Given the description of an element on the screen output the (x, y) to click on. 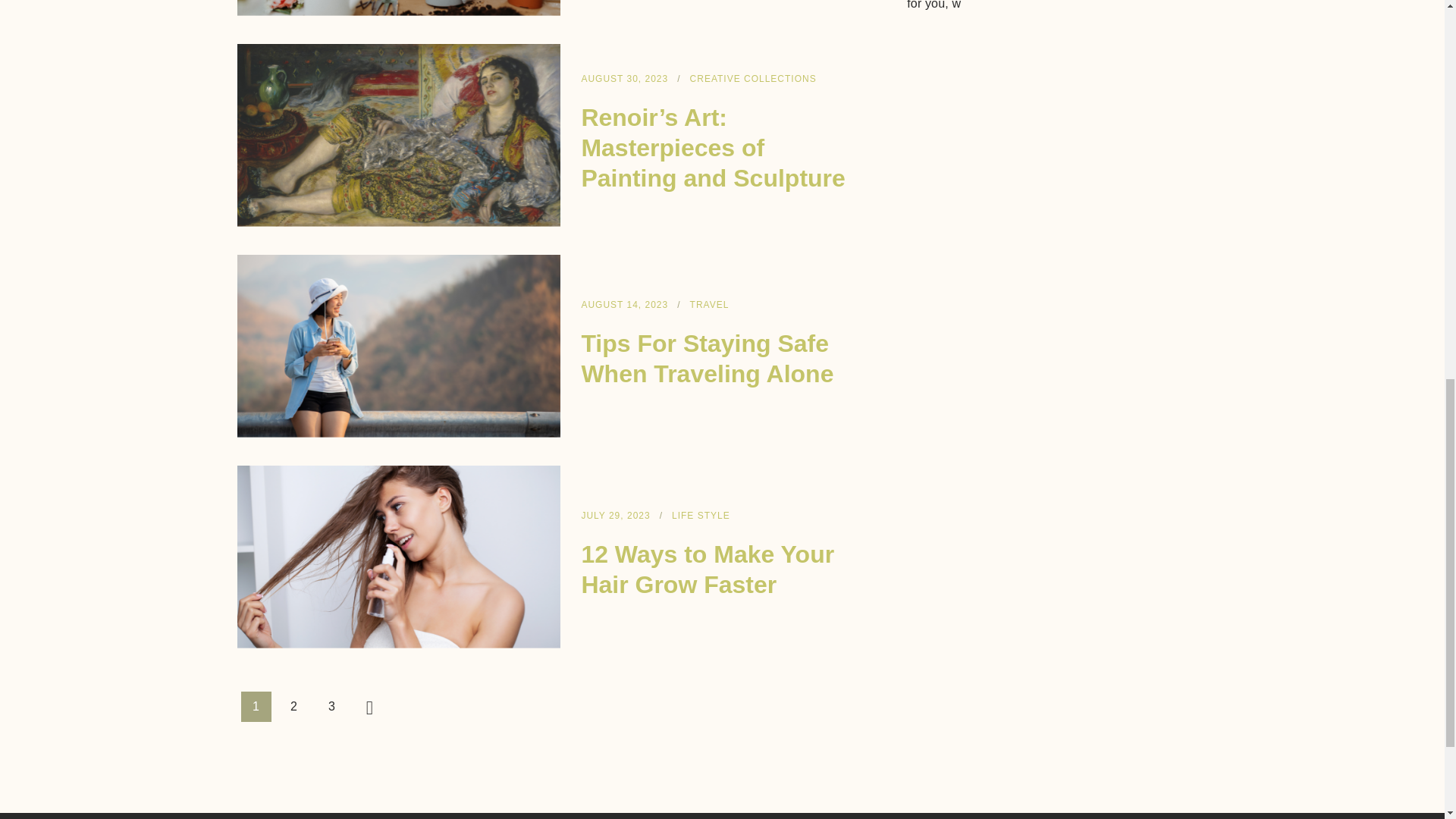
AUGUST 30, 2023 (624, 78)
JULY 29, 2023 (614, 515)
AUGUST 14, 2023 (624, 304)
Tips For Staying Safe When Traveling Alone (706, 358)
CREATIVE COLLECTIONS (753, 78)
3 (332, 706)
TRAVEL (709, 304)
LIFE STYLE (700, 515)
12 Ways to Make Your Hair Grow Faster (707, 569)
2 (293, 706)
